Given the description of an element on the screen output the (x, y) to click on. 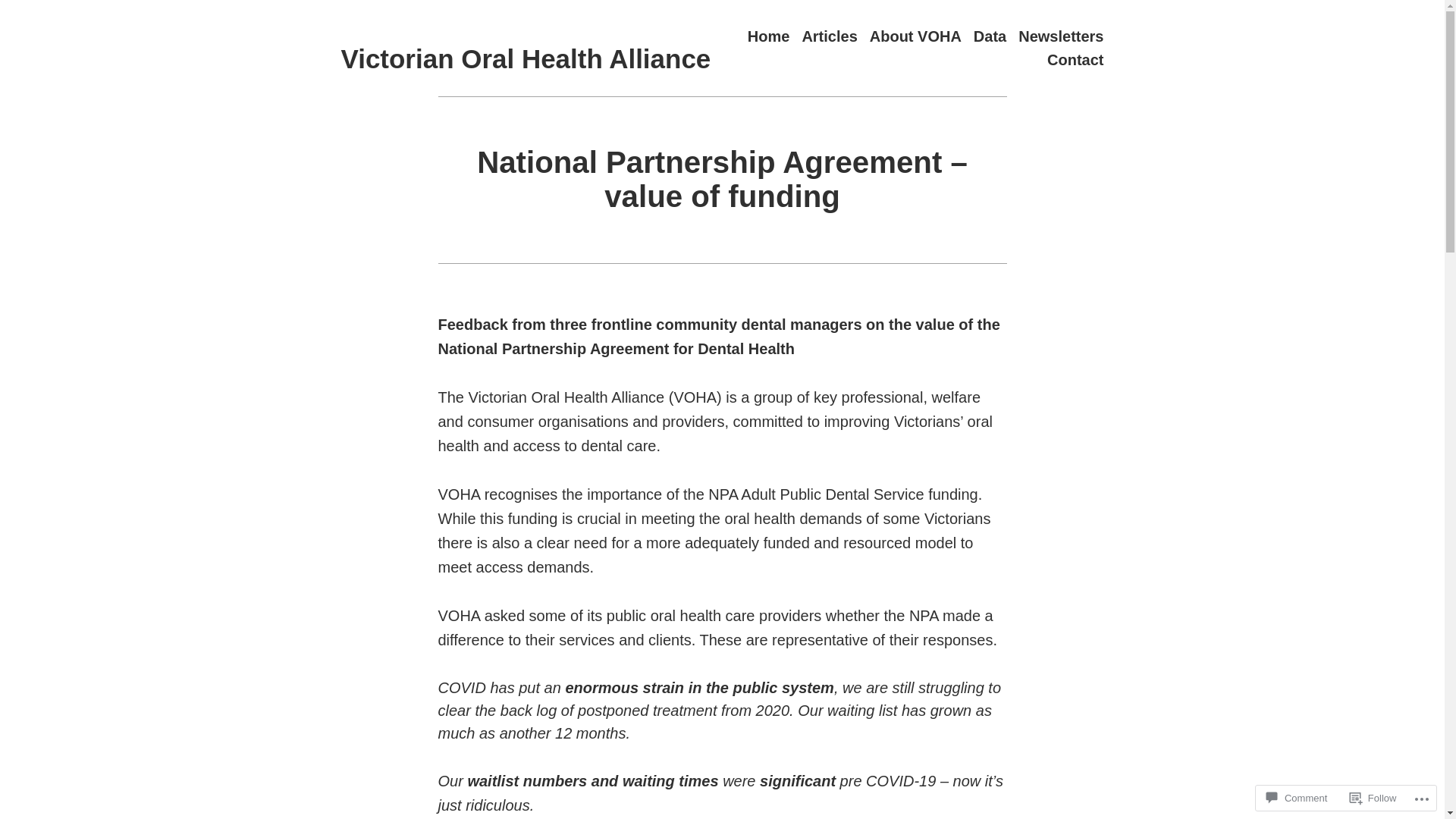
Data Element type: text (989, 35)
Articles Element type: text (828, 35)
Newsletters Element type: text (1060, 35)
Contact Element type: text (1075, 59)
Follow Element type: text (1372, 797)
Victorian Oral Health Alliance Element type: text (526, 58)
Comment Element type: text (1296, 797)
About VOHA Element type: text (915, 35)
Home Element type: text (768, 35)
